Given the description of an element on the screen output the (x, y) to click on. 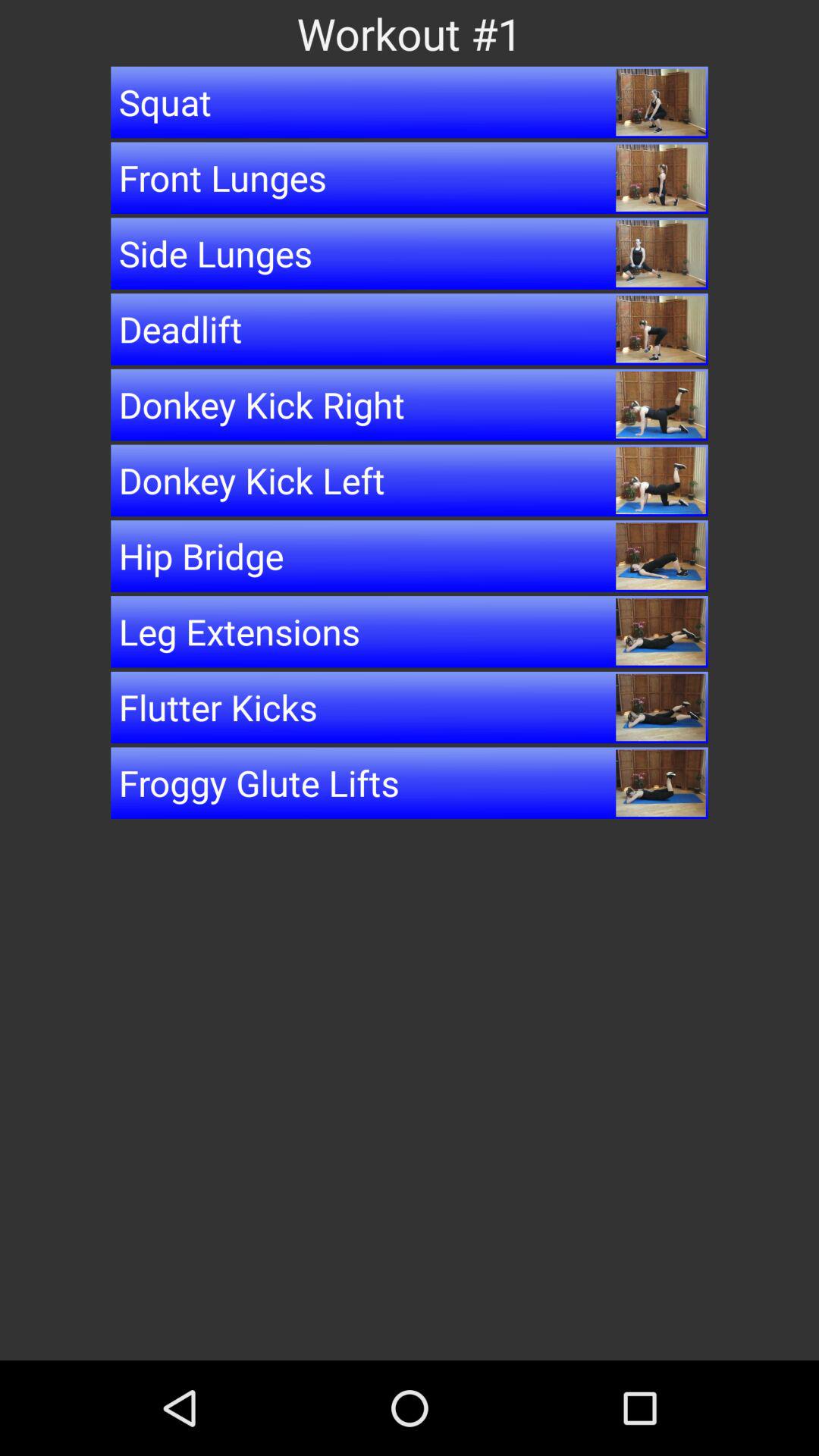
jump to squat button (409, 102)
